Given the description of an element on the screen output the (x, y) to click on. 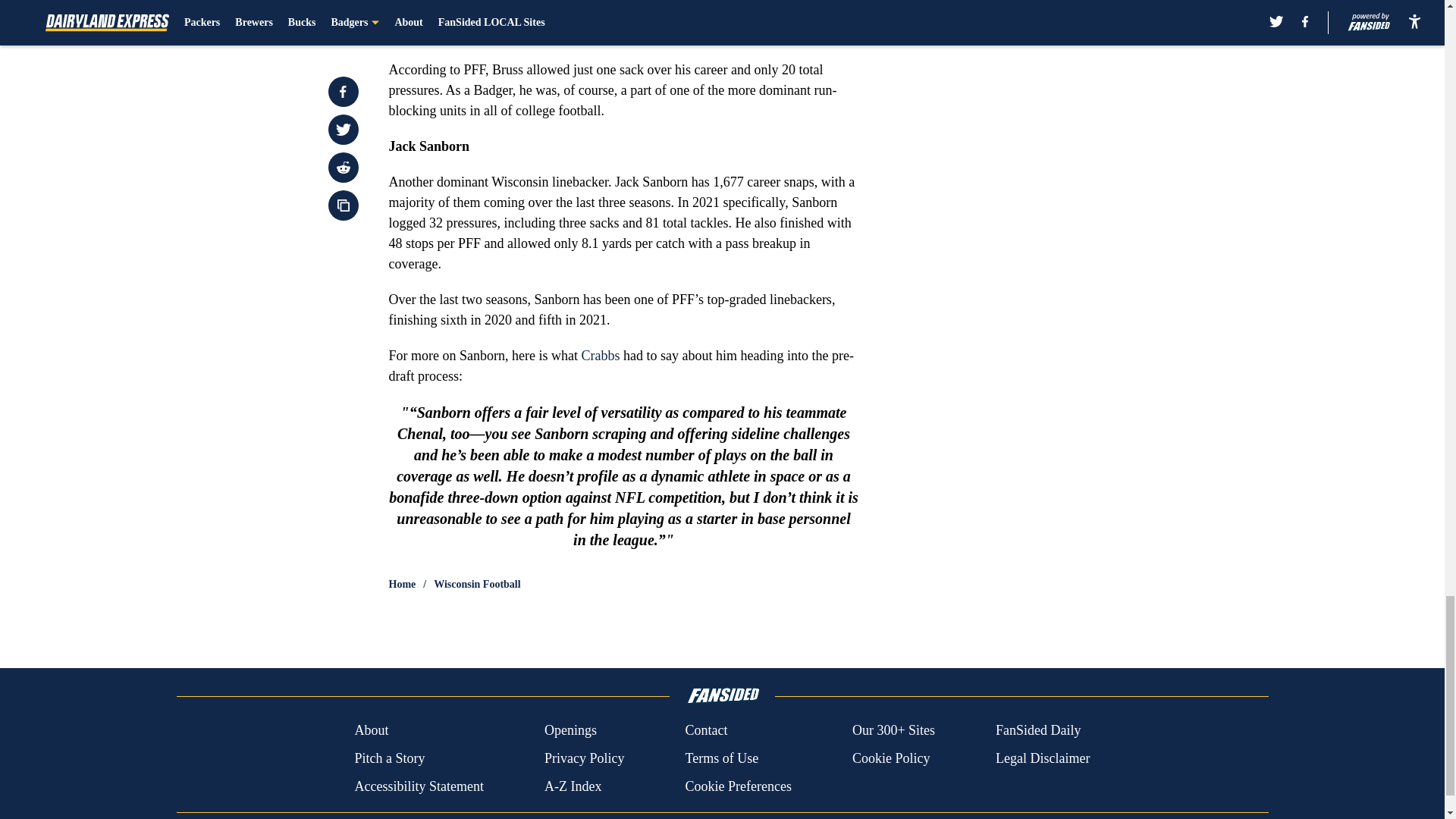
Crabbs (600, 355)
A-Z Index (572, 786)
Wisconsin Football (477, 584)
Openings (570, 730)
Terms of Use (721, 758)
Legal Disclaimer (1042, 758)
Cookie Policy (890, 758)
Accessibility Statement (418, 786)
Privacy Policy (584, 758)
Pitch a Story (389, 758)
